Given the description of an element on the screen output the (x, y) to click on. 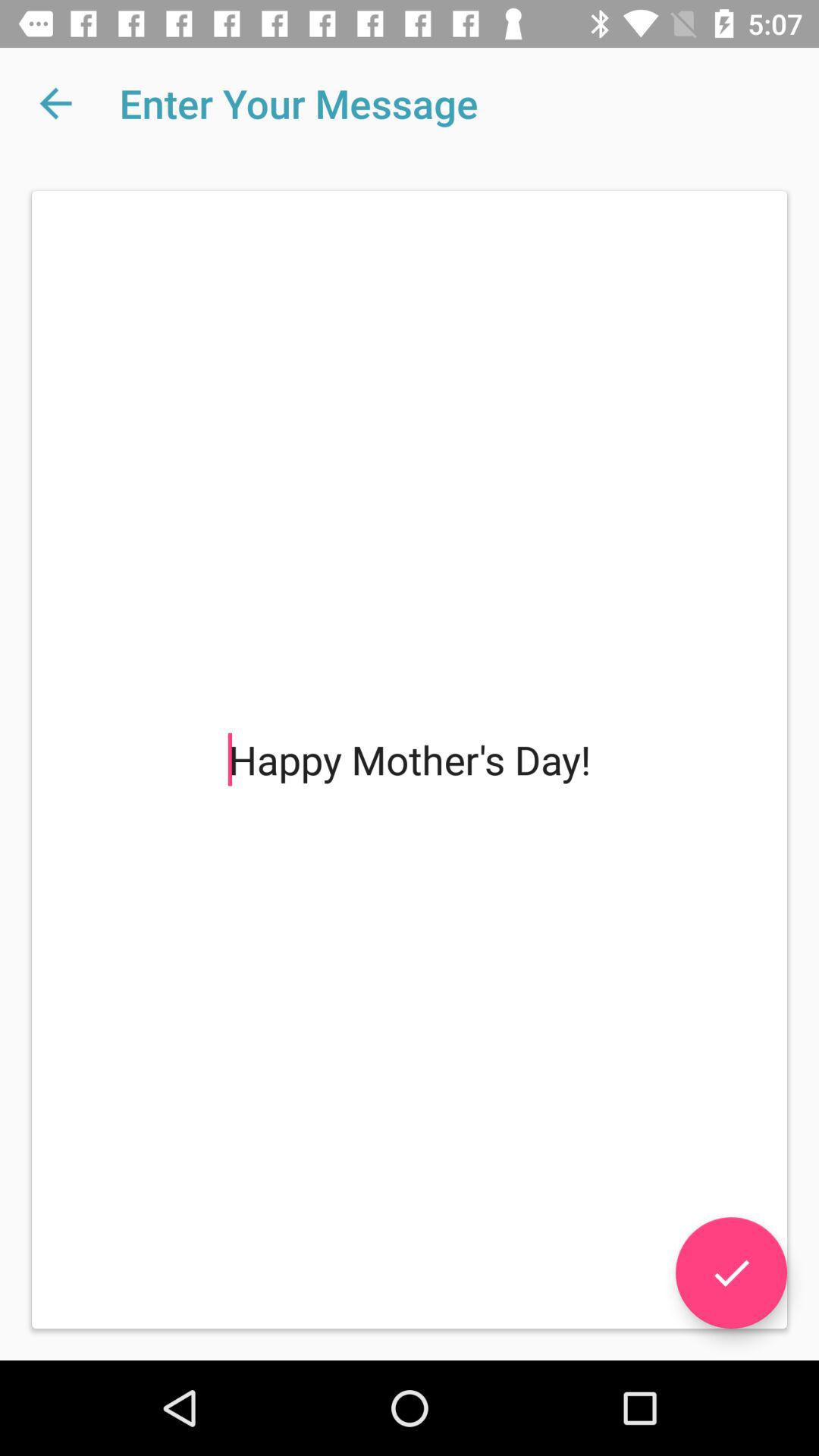
tap the icon next to the enter your message icon (55, 103)
